Given the description of an element on the screen output the (x, y) to click on. 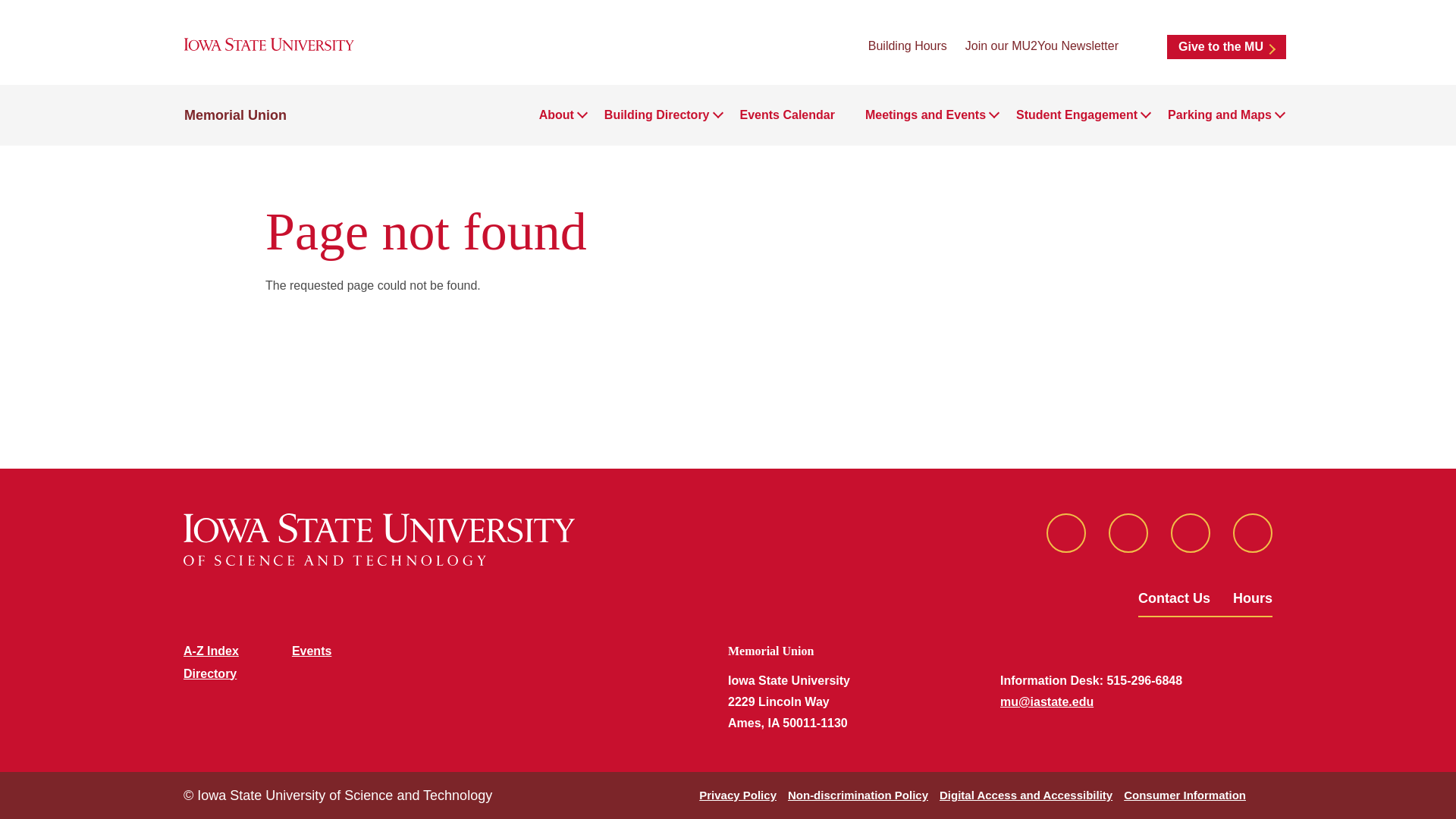
Memorial Union (235, 114)
About (555, 115)
Building Directory (657, 115)
Search (1142, 45)
Give to the MU (1226, 46)
Join our MU2You Newsletter (1041, 45)
Building Hours (907, 45)
